Given the description of an element on the screen output the (x, y) to click on. 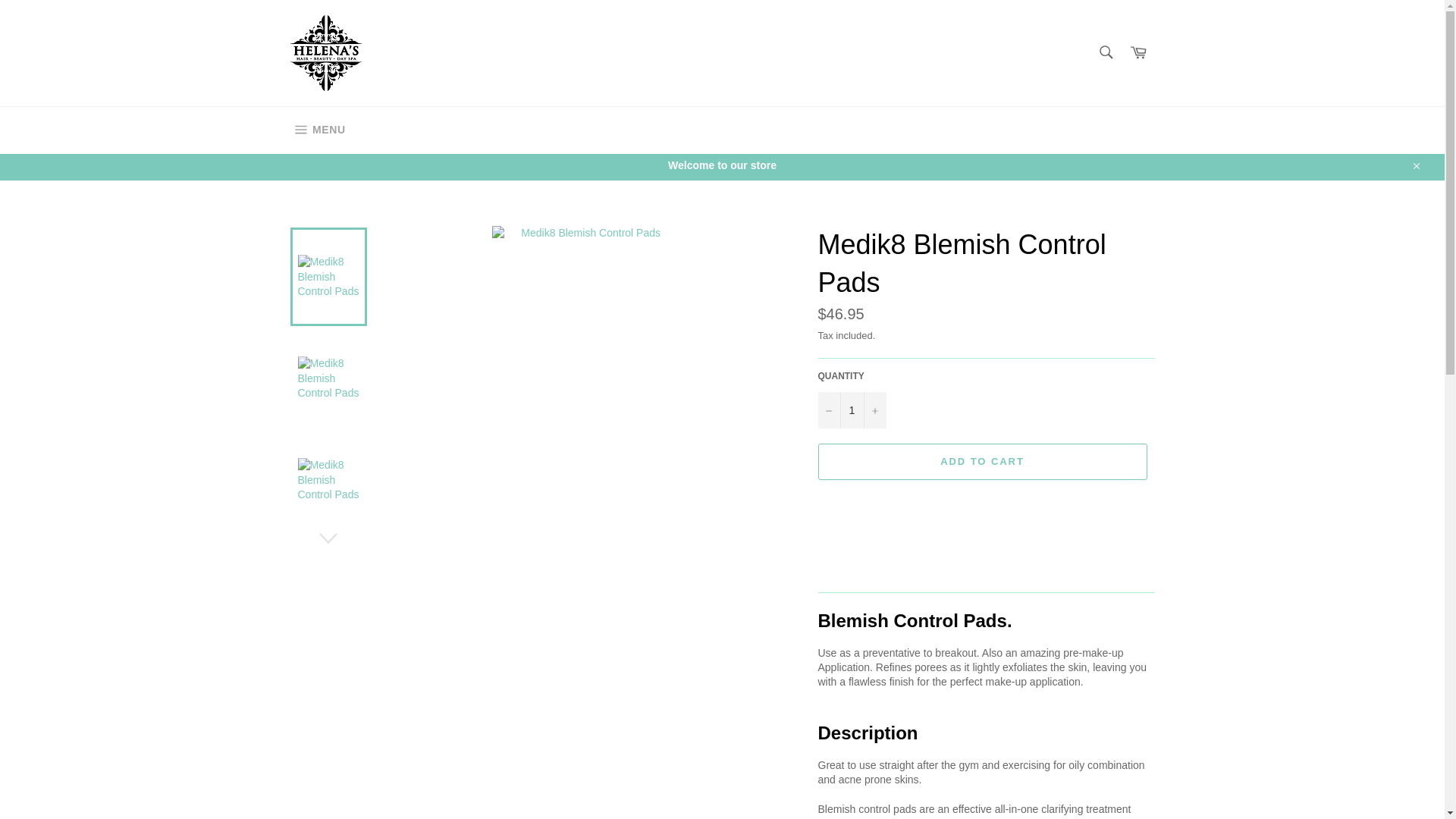
1 (850, 410)
